Given the description of an element on the screen output the (x, y) to click on. 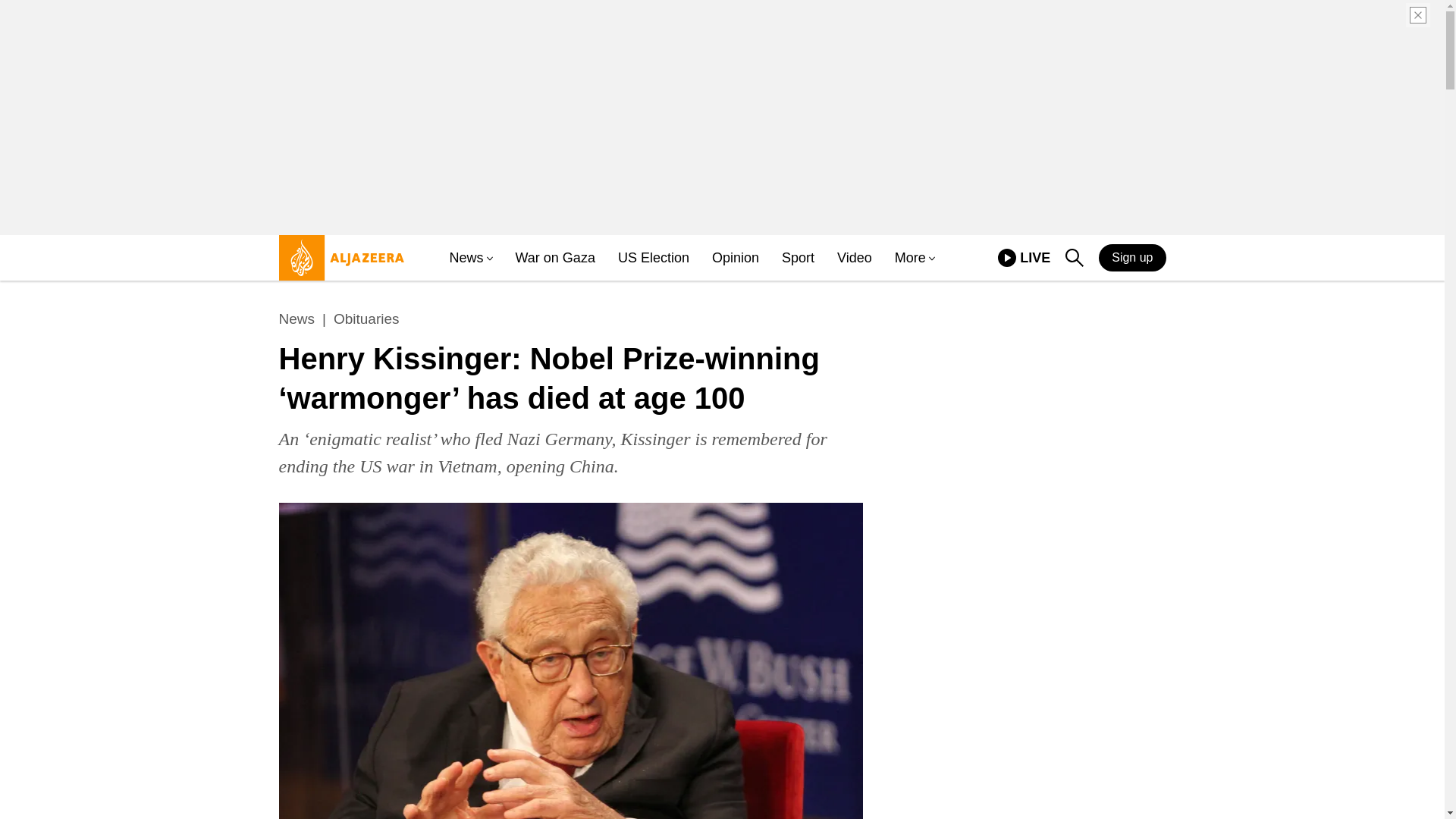
Obituaries (365, 319)
News (465, 257)
US Election (652, 257)
Video (854, 257)
More (910, 257)
News (297, 319)
War on Gaza (555, 257)
Sport (797, 257)
play (1023, 257)
